Given the description of an element on the screen output the (x, y) to click on. 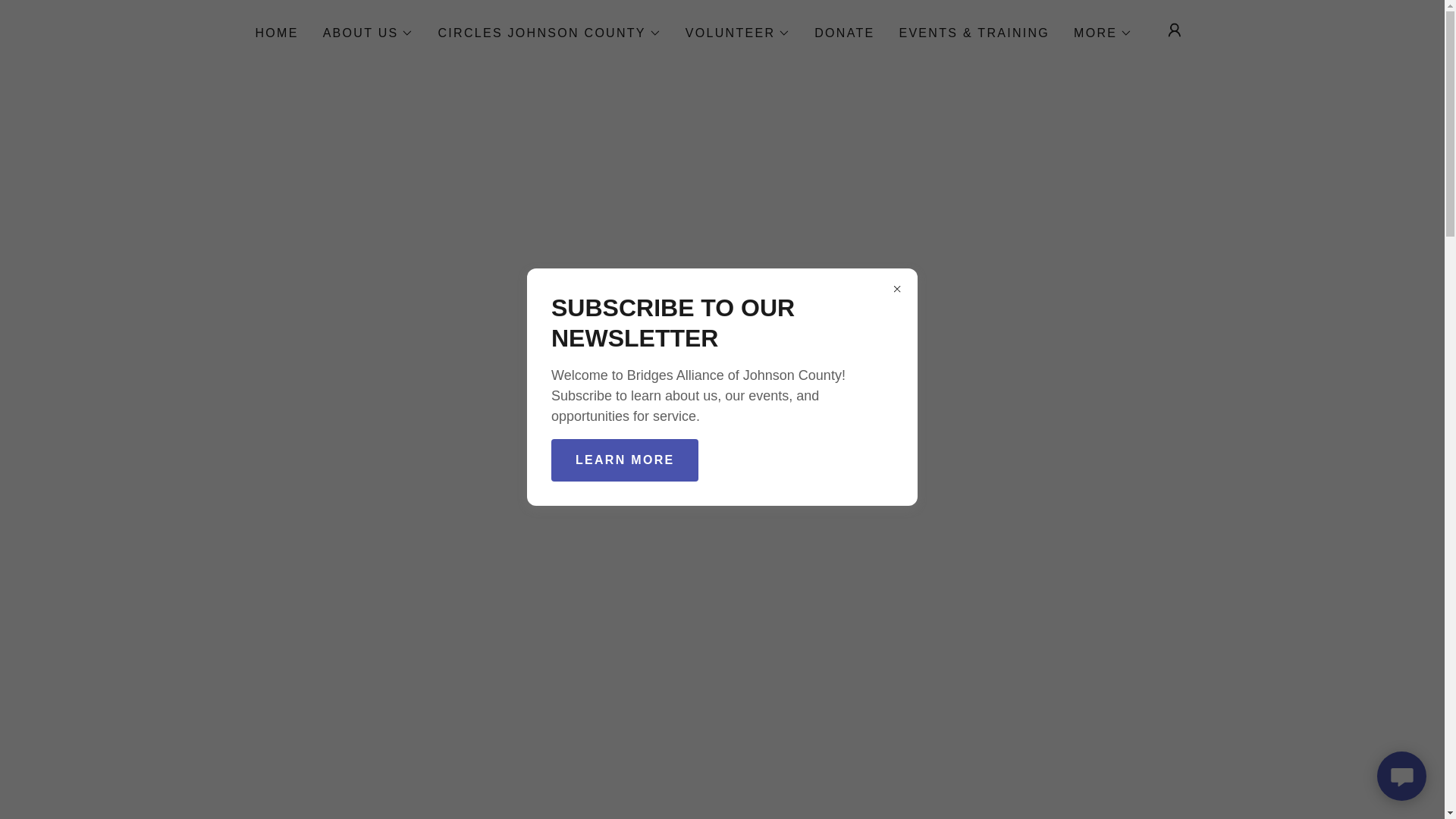
HOME (276, 32)
VOLUNTEER (737, 33)
MORE (1103, 33)
ABOUT US (368, 33)
CIRCLES JOHNSON COUNTY (549, 33)
DONATE (844, 32)
